Given the description of an element on the screen output the (x, y) to click on. 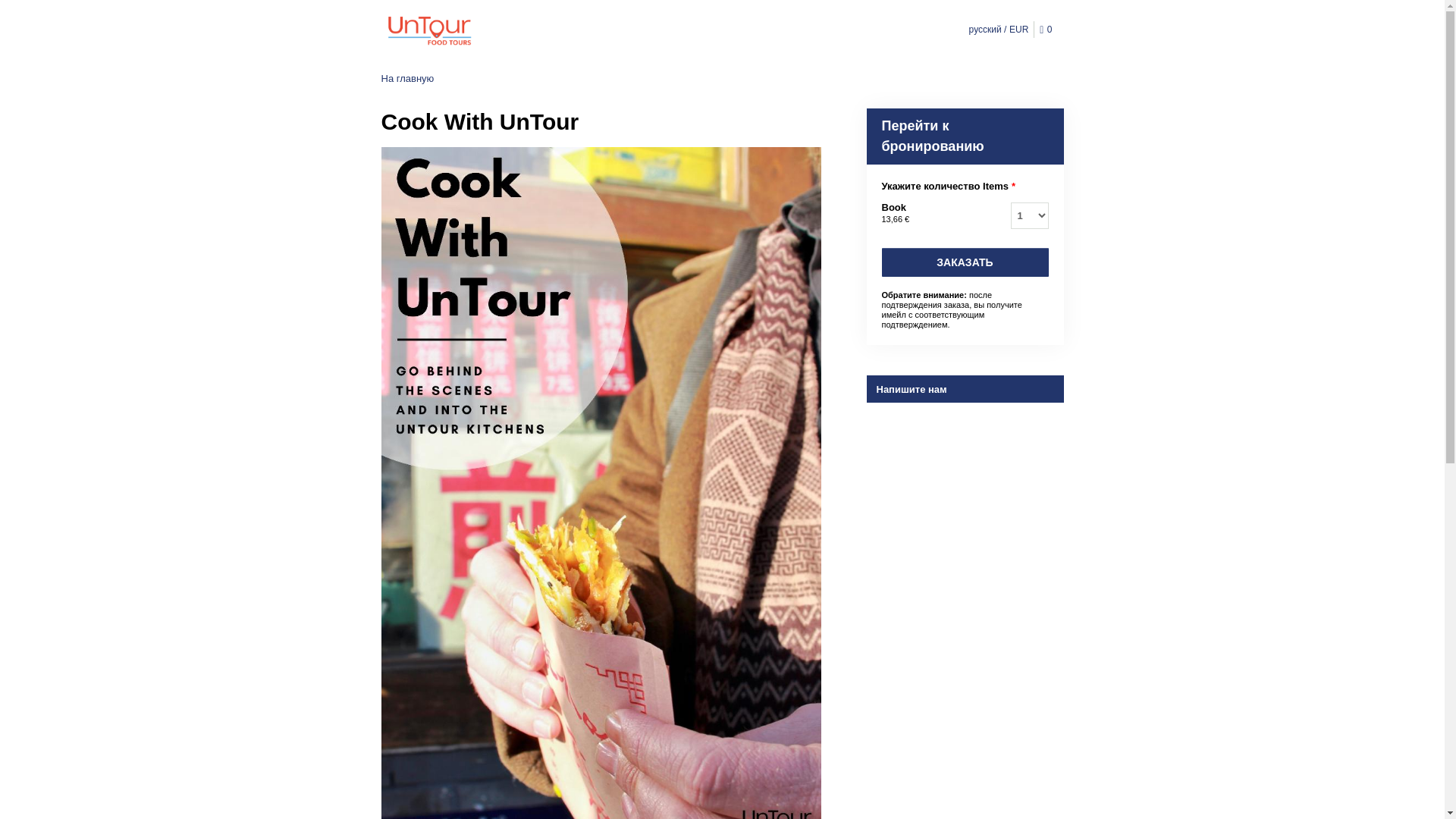
Estimated conversion from 15 (894, 218)
0 (1047, 30)
